Given the description of an element on the screen output the (x, y) to click on. 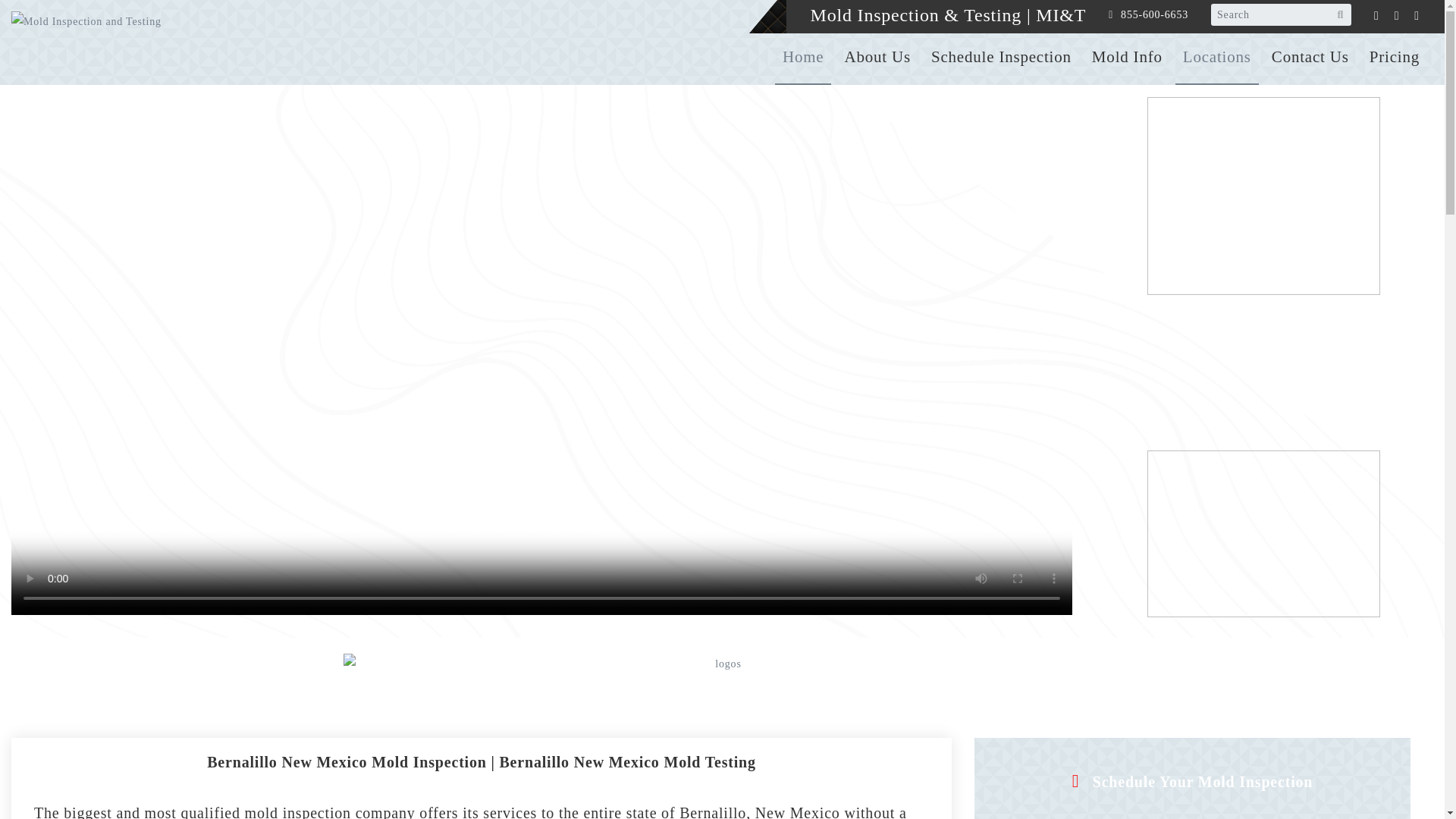
Home (802, 57)
About Us (876, 57)
Pricing (1393, 57)
Mold Info (1127, 57)
Mold Inspection and Testing (109, 42)
Locations (1216, 57)
855-600-6653 (1154, 15)
Schedule Inspection (1000, 57)
Contact Us (1309, 57)
